Given the description of an element on the screen output the (x, y) to click on. 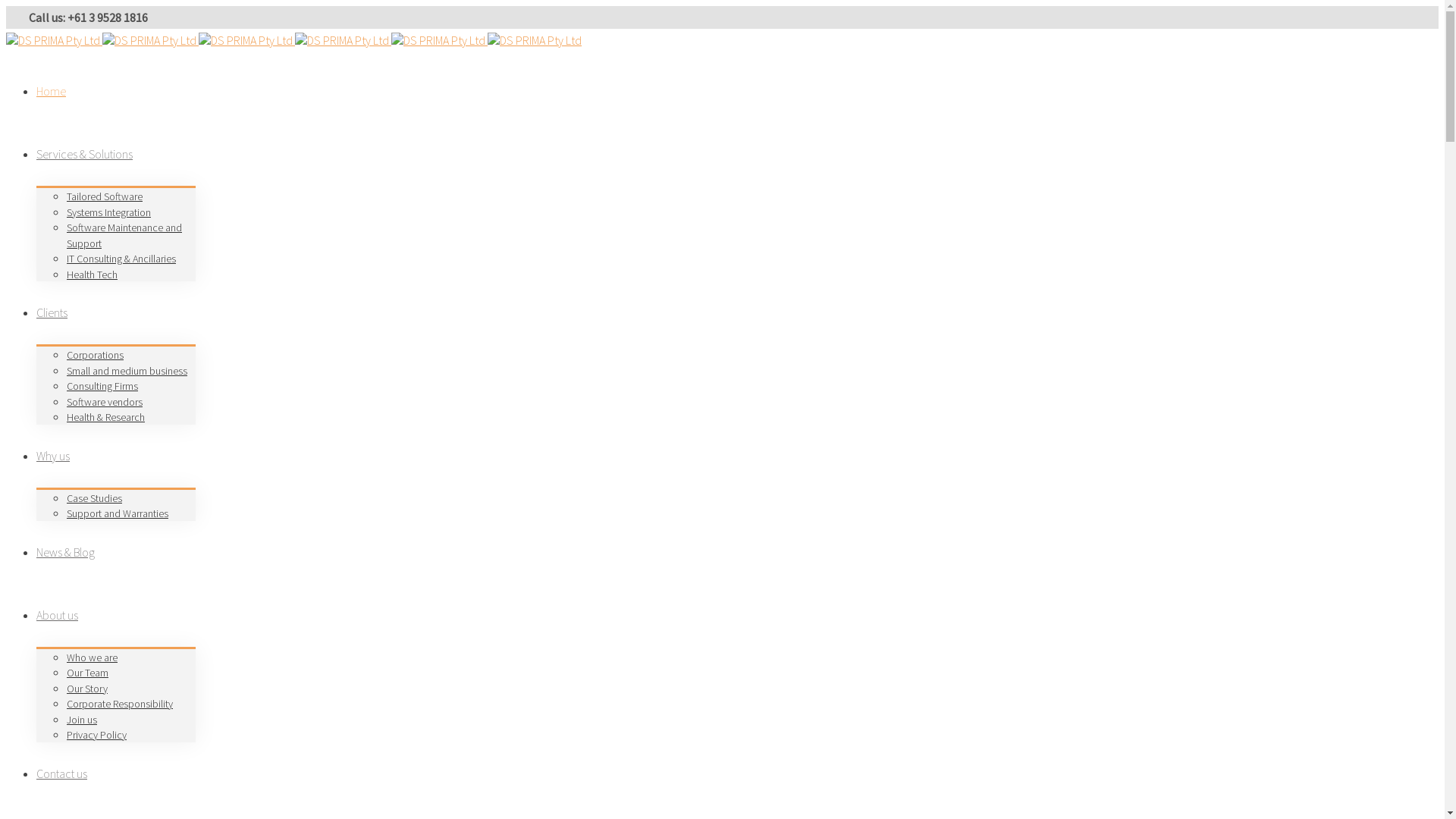
Support and Warranties Element type: text (117, 513)
Why us Element type: text (52, 454)
Our Story Element type: text (86, 688)
Consulting Firms Element type: text (102, 385)
Corporate Responsibility Element type: text (119, 703)
Health Tech Element type: text (91, 274)
Services & Solutions Element type: text (84, 153)
Health & Research Element type: text (105, 416)
Contact us Element type: text (61, 773)
Software vendors Element type: text (104, 401)
Our Team Element type: text (87, 672)
Join us Element type: text (81, 718)
Clients Element type: text (51, 312)
Privacy Policy Element type: text (96, 734)
Tailored Software Element type: text (104, 196)
Home Element type: text (50, 90)
Case Studies Element type: text (94, 497)
IT Consulting & Ancillaries Element type: text (120, 258)
Corporations Element type: text (94, 354)
Systems Integration Element type: text (108, 212)
Software Maintenance and Support Element type: text (124, 235)
About us Element type: text (57, 613)
News & Blog Element type: text (65, 551)
Who we are Element type: text (91, 656)
Small and medium business Element type: text (126, 369)
